Given the description of an element on the screen output the (x, y) to click on. 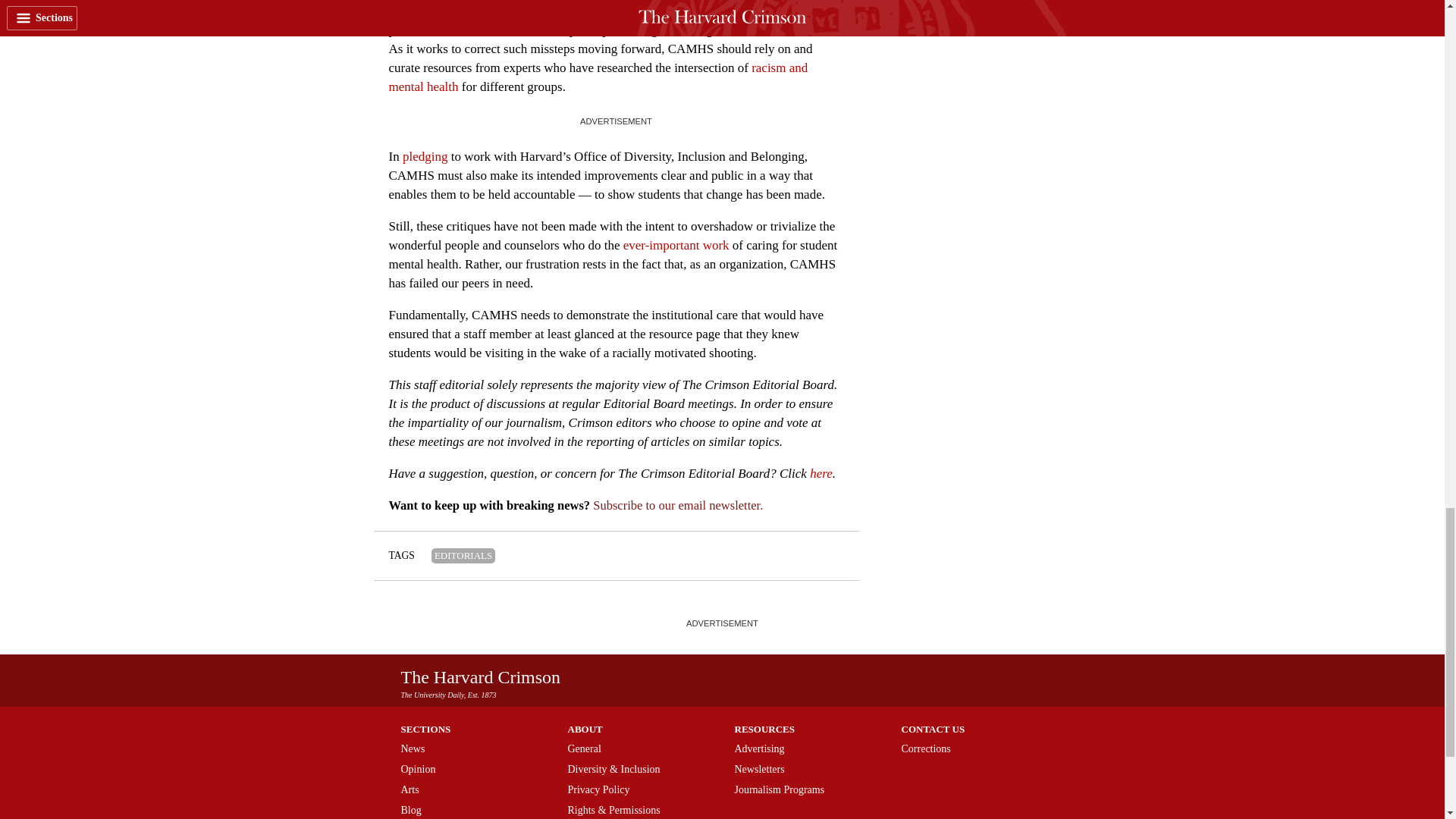
ever-important work (676, 245)
pledging (425, 156)
racism and mental health (598, 77)
